Given the description of an element on the screen output the (x, y) to click on. 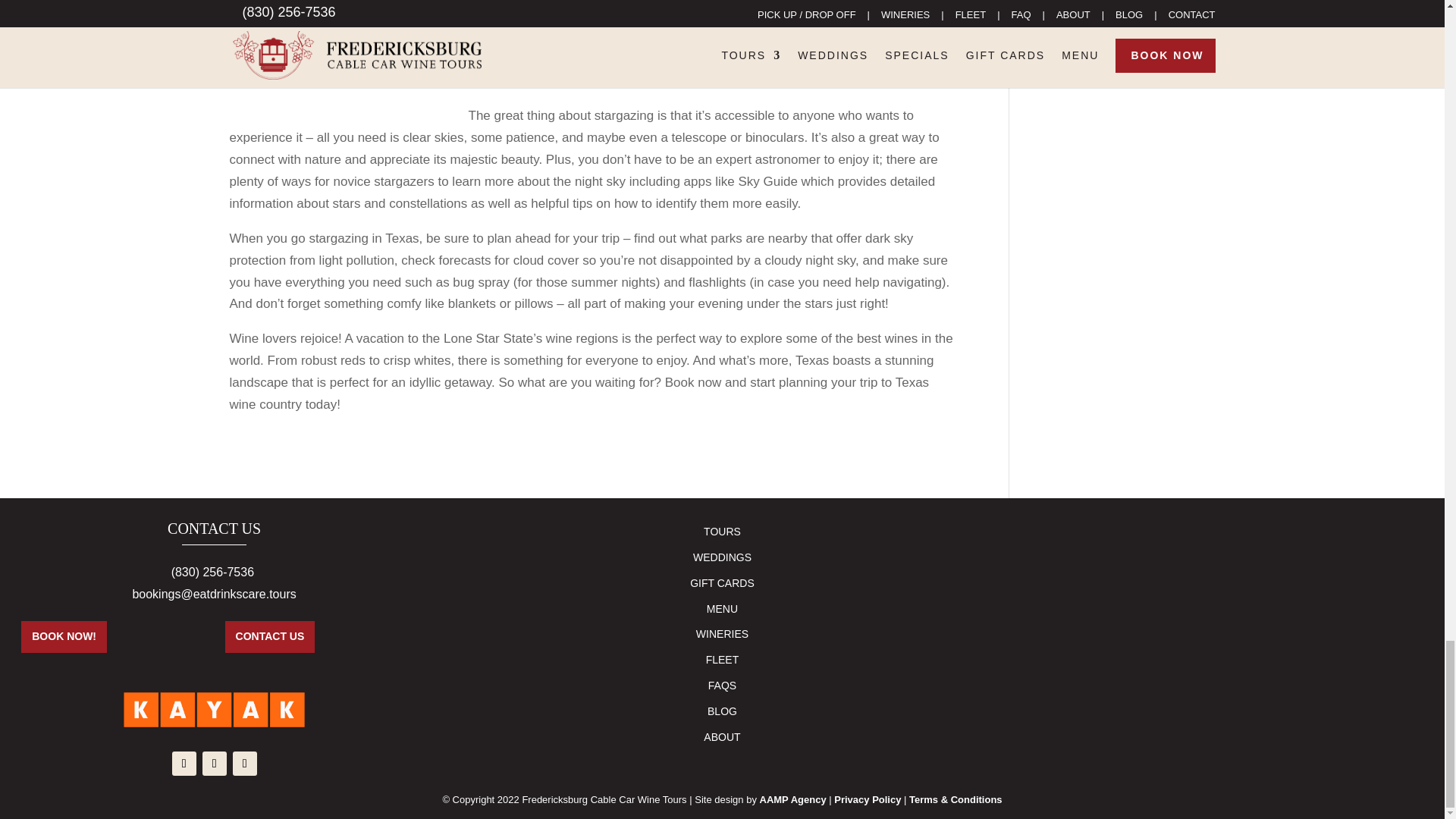
Follow on X (214, 763)
Follow on Instagram (244, 763)
Follow on Facebook (183, 763)
